Given the description of an element on the screen output the (x, y) to click on. 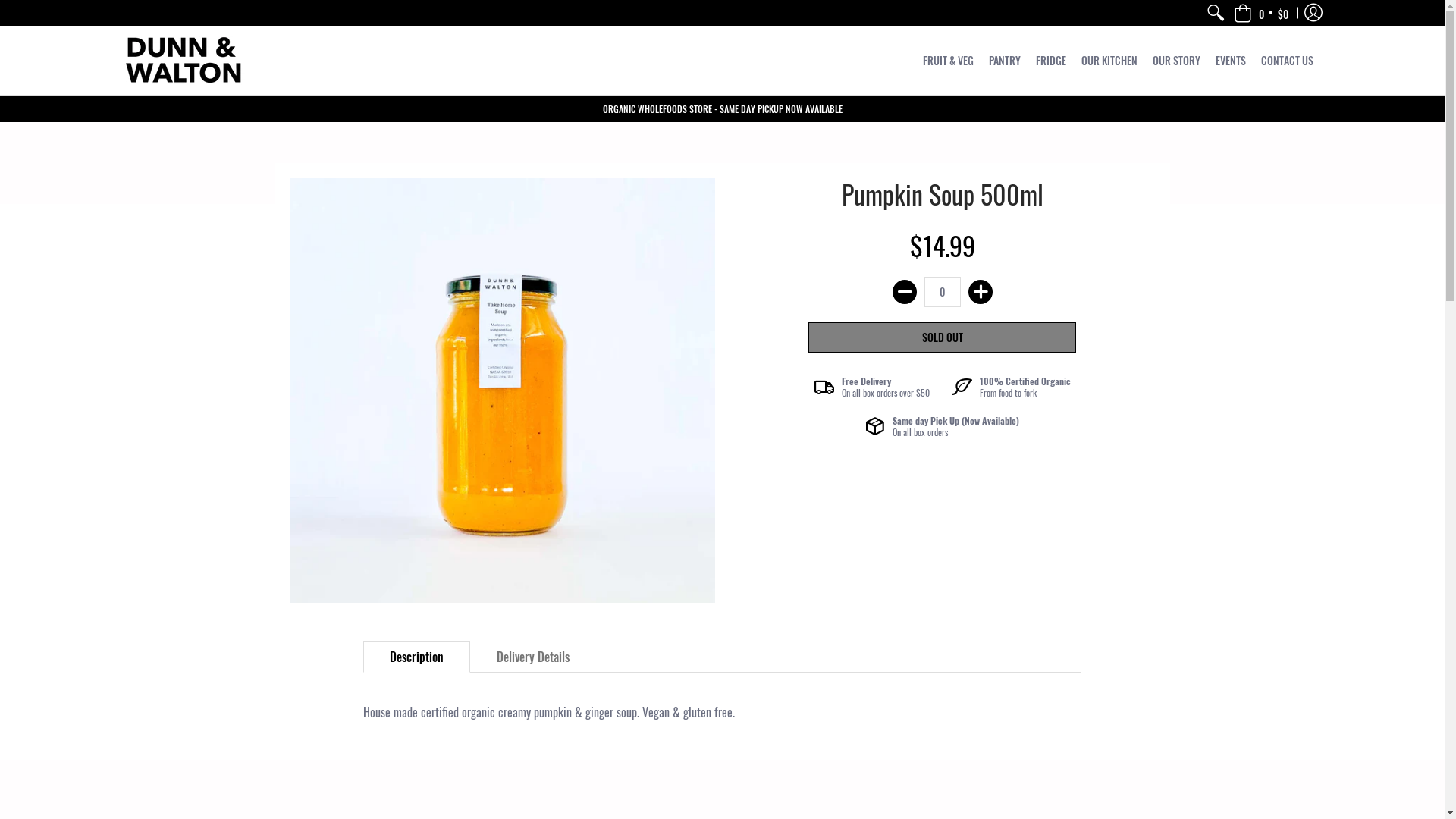
FRIDGE Element type: text (1050, 59)
OUR KITCHEN Element type: text (1109, 59)
Log in Element type: hover (1312, 12)
Description Element type: text (416, 656)
OUR STORY Element type: text (1176, 59)
Search Element type: hover (1214, 12)
SOLD OUT Element type: text (942, 337)
PANTRY Element type: text (1004, 59)
Delivery Details Element type: text (533, 656)
FRUIT & VEG Element type: text (948, 59)
EVENTS Element type: text (1230, 59)
Dunn & Walton Element type: hover (183, 59)
CONTACT US Element type: text (1287, 59)
